Given the description of an element on the screen output the (x, y) to click on. 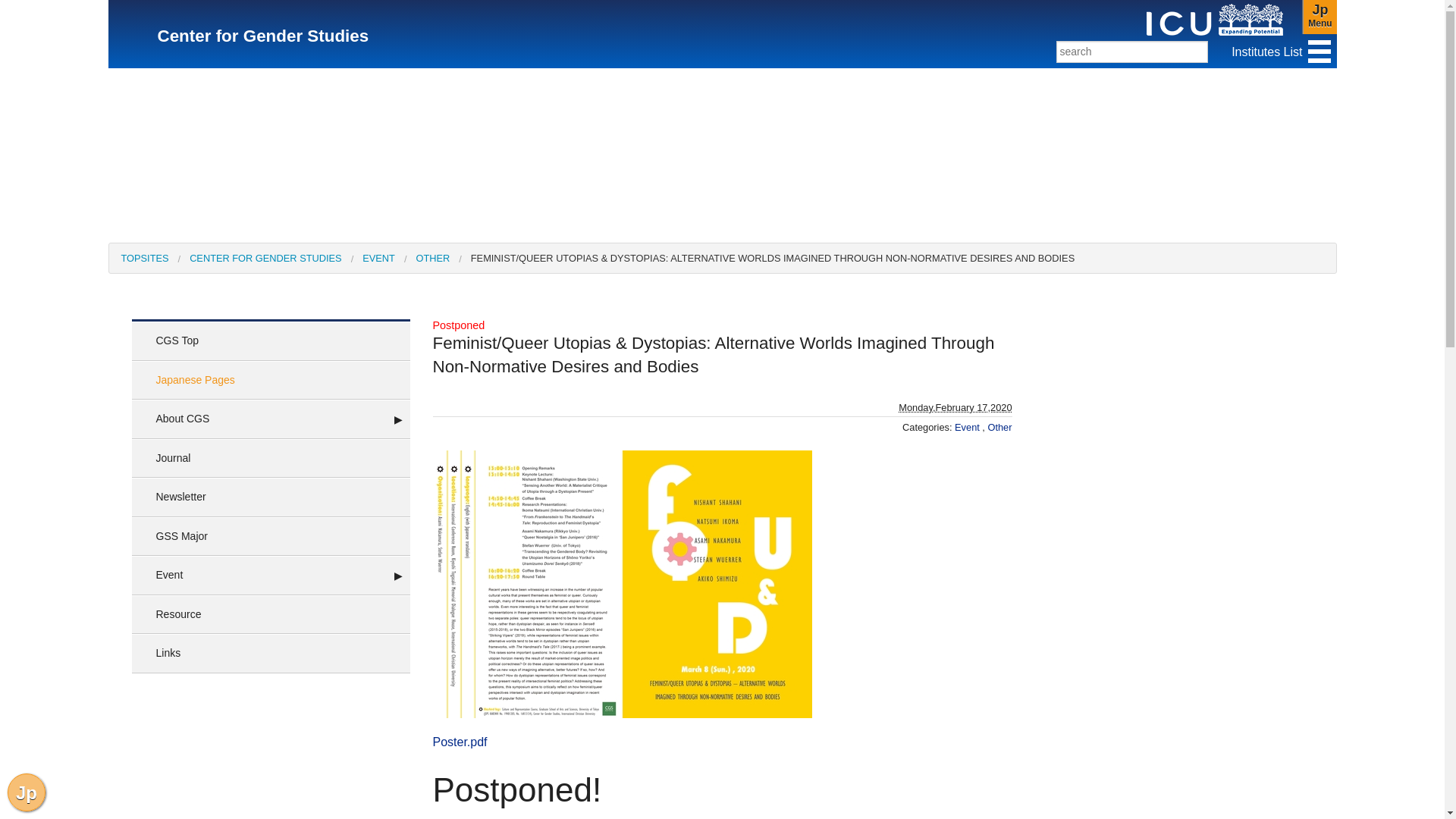
Event (53, 312)
Center for Gender Studies (263, 35)
Newsletter (53, 239)
Links (53, 567)
About CGS (53, 130)
February 17, 2020  1:51 PM (954, 408)
Japanese Pages (53, 94)
Journal (53, 203)
TopSites (1319, 17)
